Given the description of an element on the screen output the (x, y) to click on. 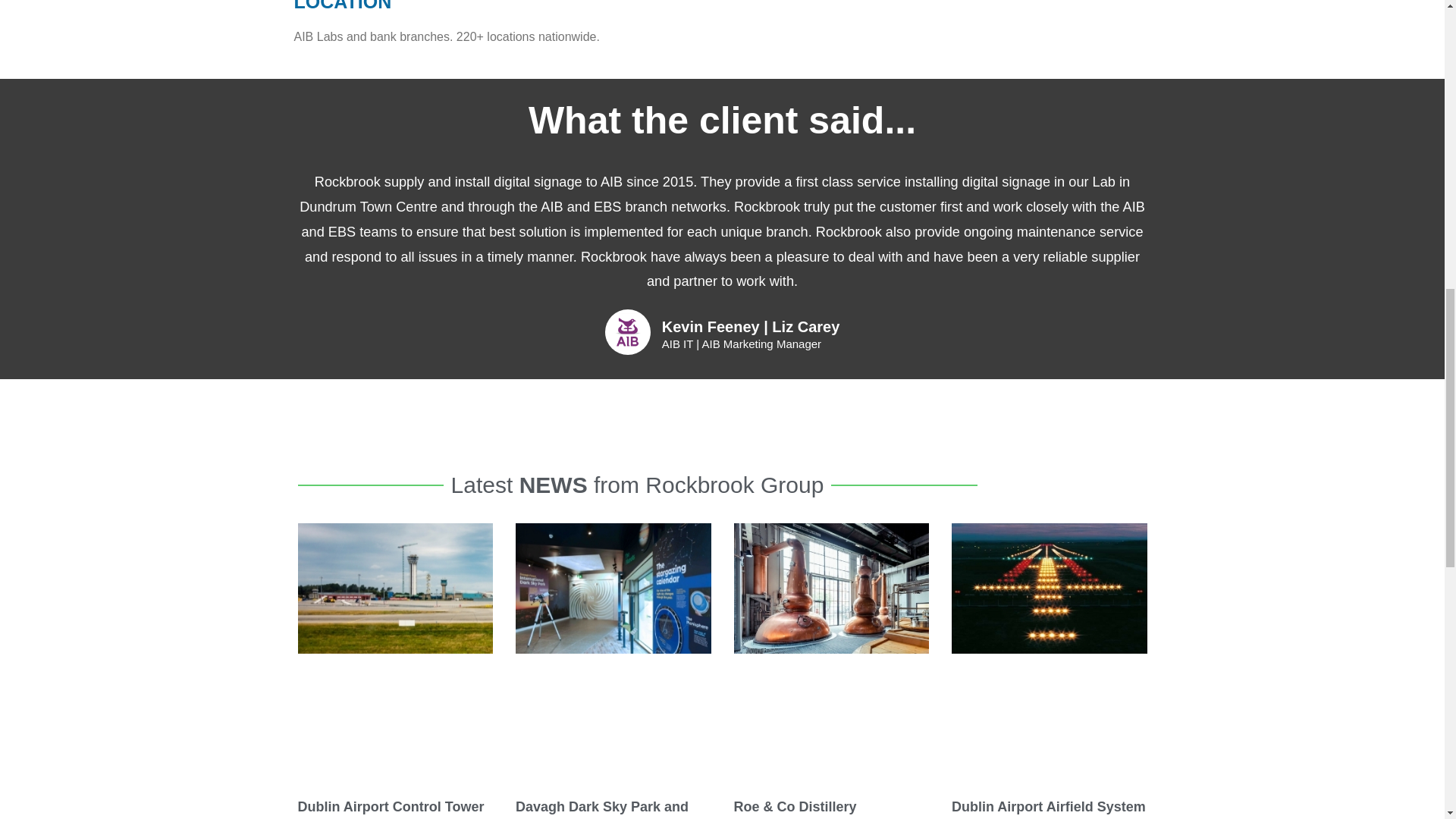
Dublin Airport Control Tower (390, 806)
Davagh Dark Sky Park and Observatory (601, 809)
Dublin Airport Airfield System (1048, 806)
